Given the description of an element on the screen output the (x, y) to click on. 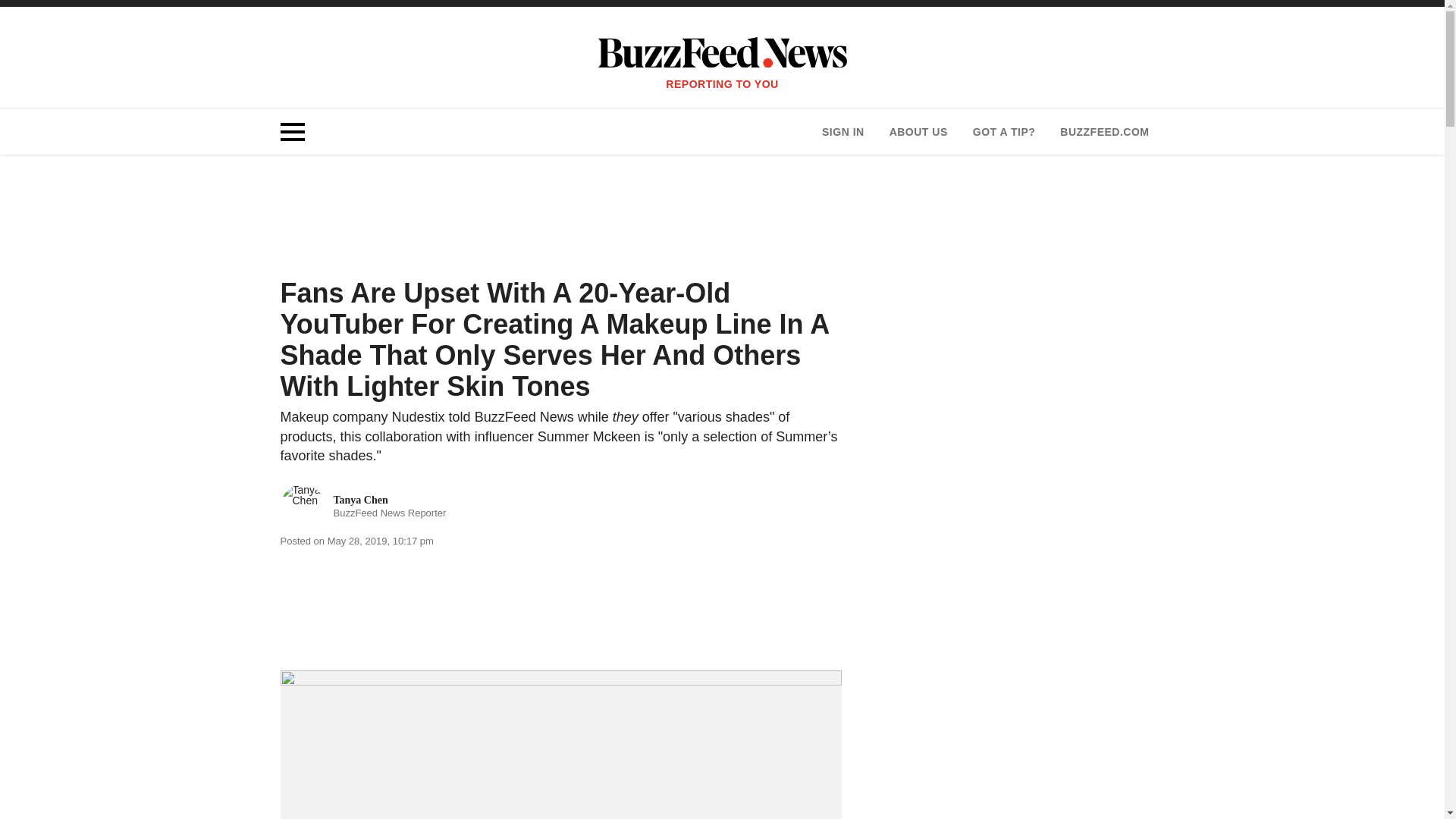
BUZZFEED.COM (1103, 131)
ABOUT US (917, 131)
SIGN IN (842, 131)
GOT A TIP? (1003, 131)
